Given the description of an element on the screen output the (x, y) to click on. 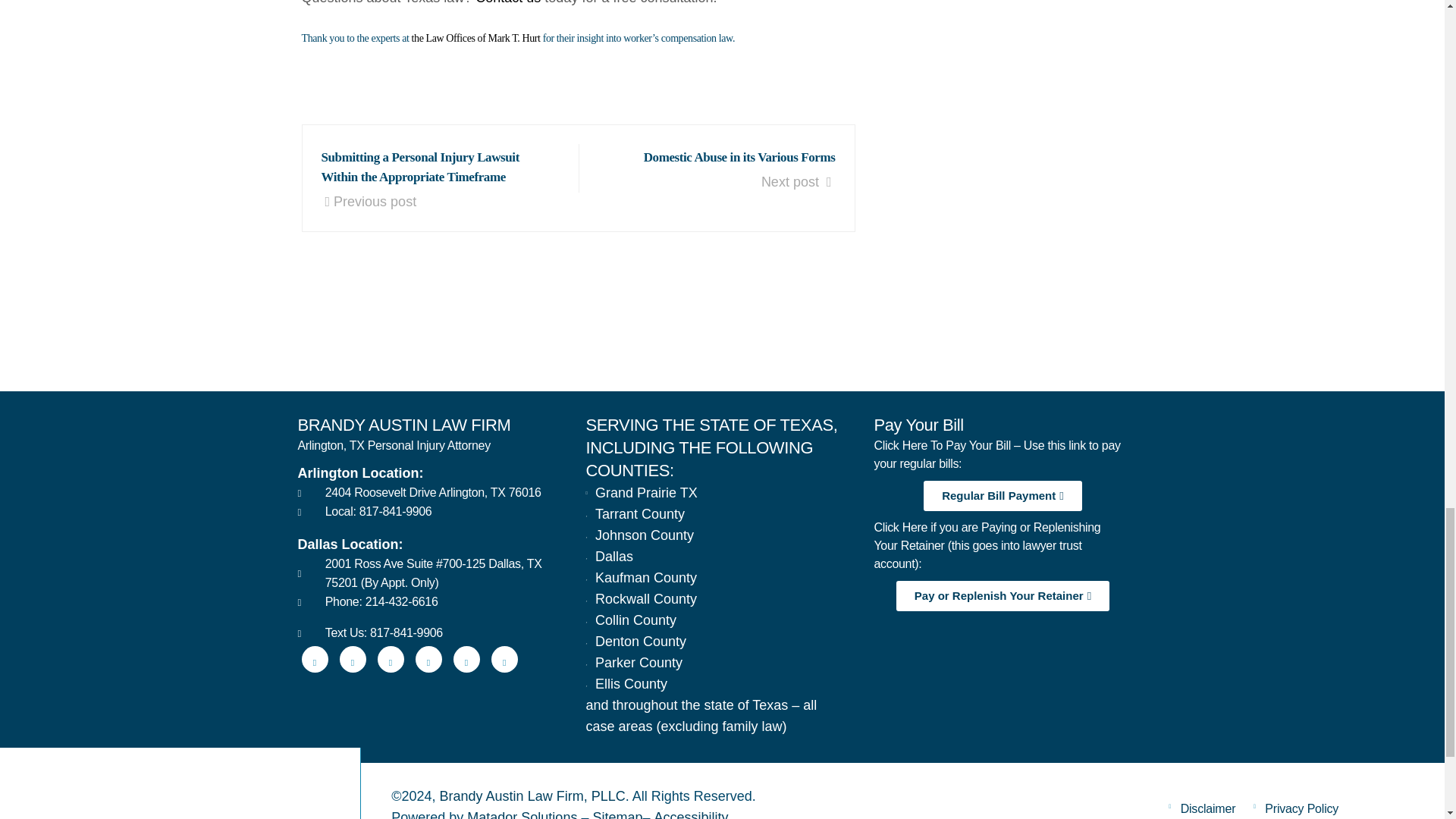
Super Lawyers (619, 326)
American Institution of Legal Counsel (858, 326)
Avvo Rating - Top Attorney (380, 326)
NAELA (1097, 326)
